Given the description of an element on the screen output the (x, y) to click on. 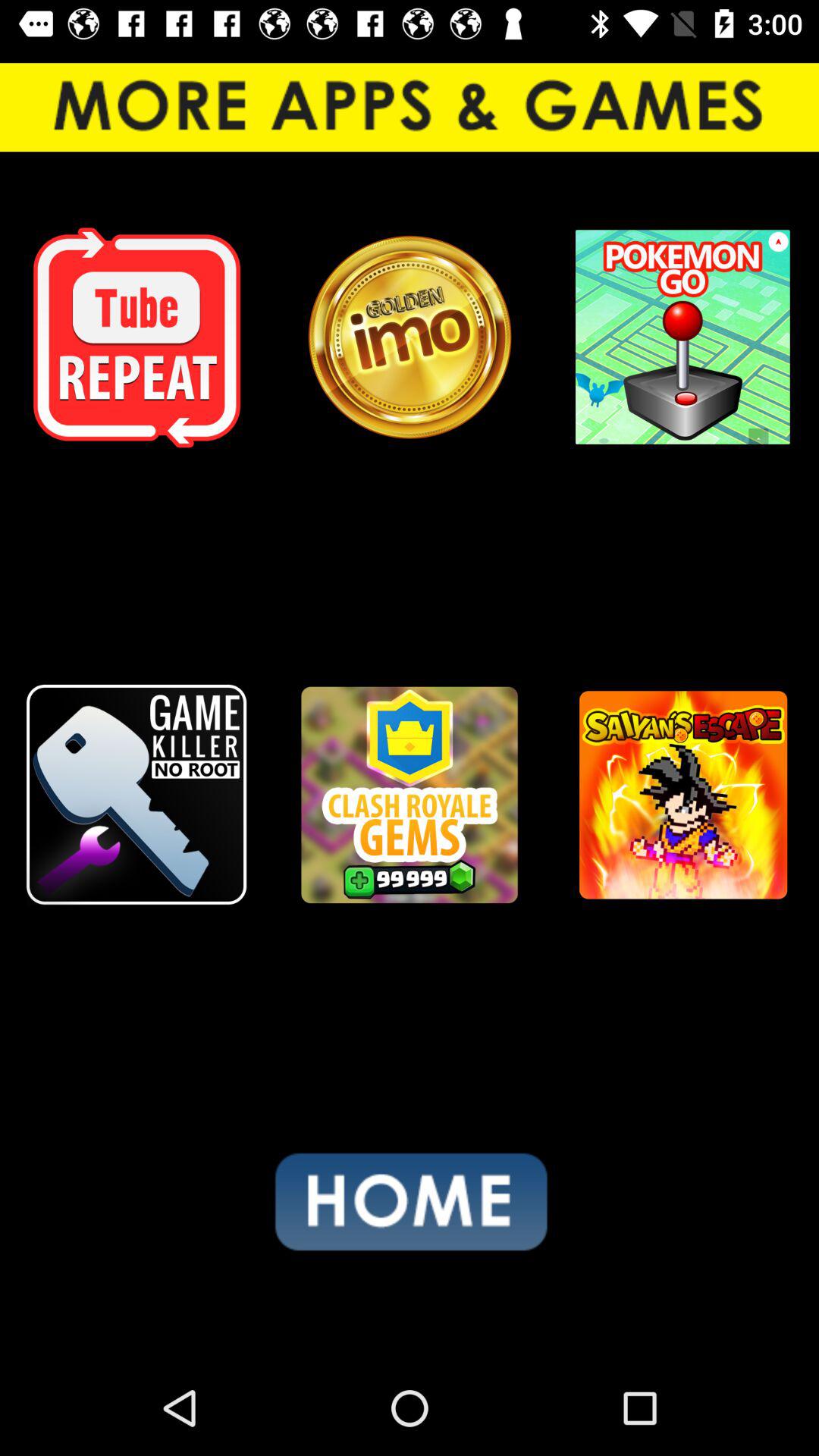
play/install saivans escape (682, 794)
